Given the description of an element on the screen output the (x, y) to click on. 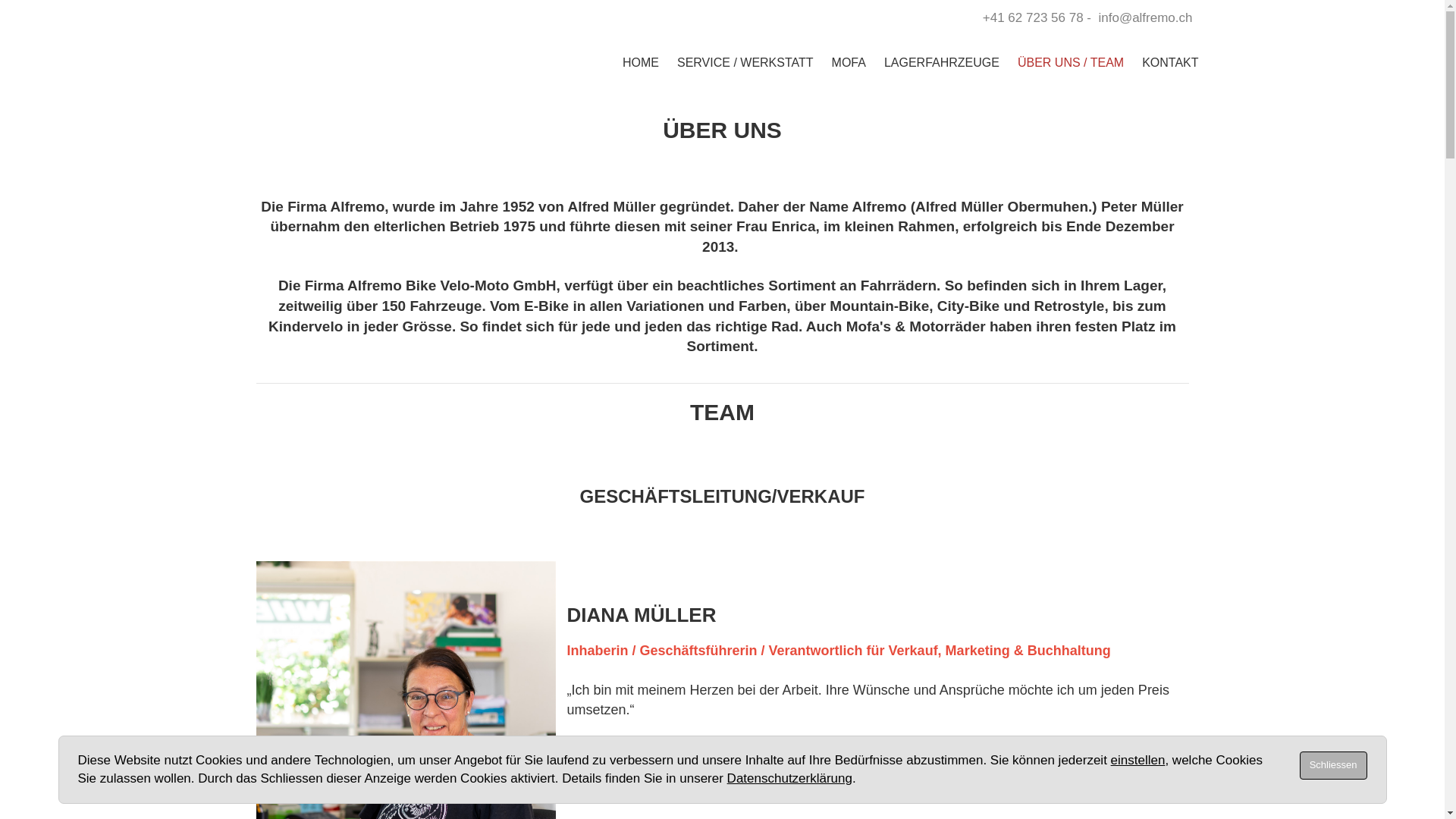
KONTAKT Element type: text (1169, 62)
MOFA Element type: text (848, 62)
HOME Element type: text (640, 62)
info@alfremo.ch Element type: text (1145, 17)
LAGERFAHRZEUGE Element type: text (941, 62)
Schliessen Element type: text (1333, 764)
SERVICE / WERKSTATT Element type: text (745, 62)
+41 62 723 56 78 Element type: text (1032, 17)
